Given the description of an element on the screen output the (x, y) to click on. 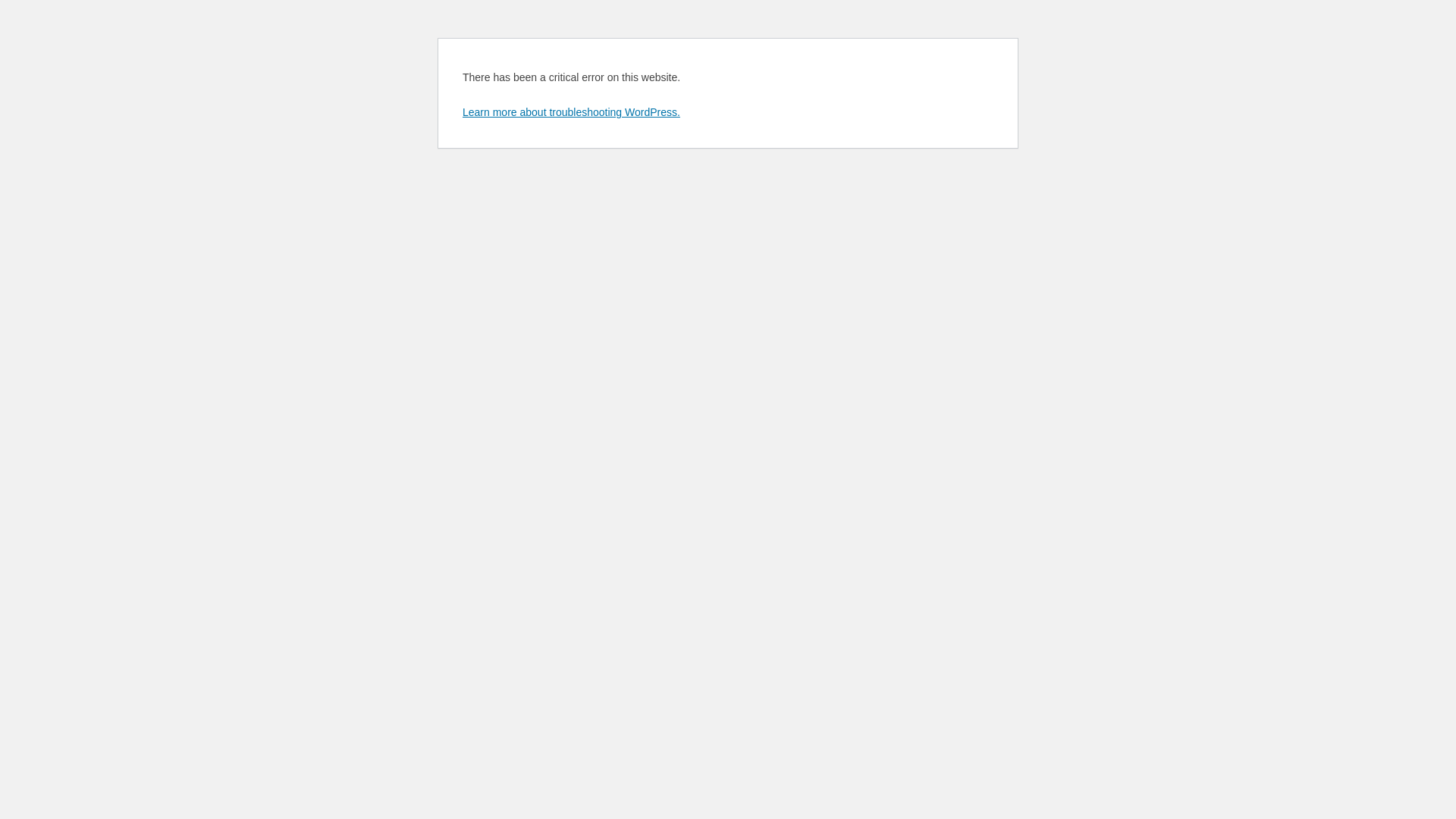
Learn more about troubleshooting WordPress. Element type: text (571, 112)
